Given the description of an element on the screen output the (x, y) to click on. 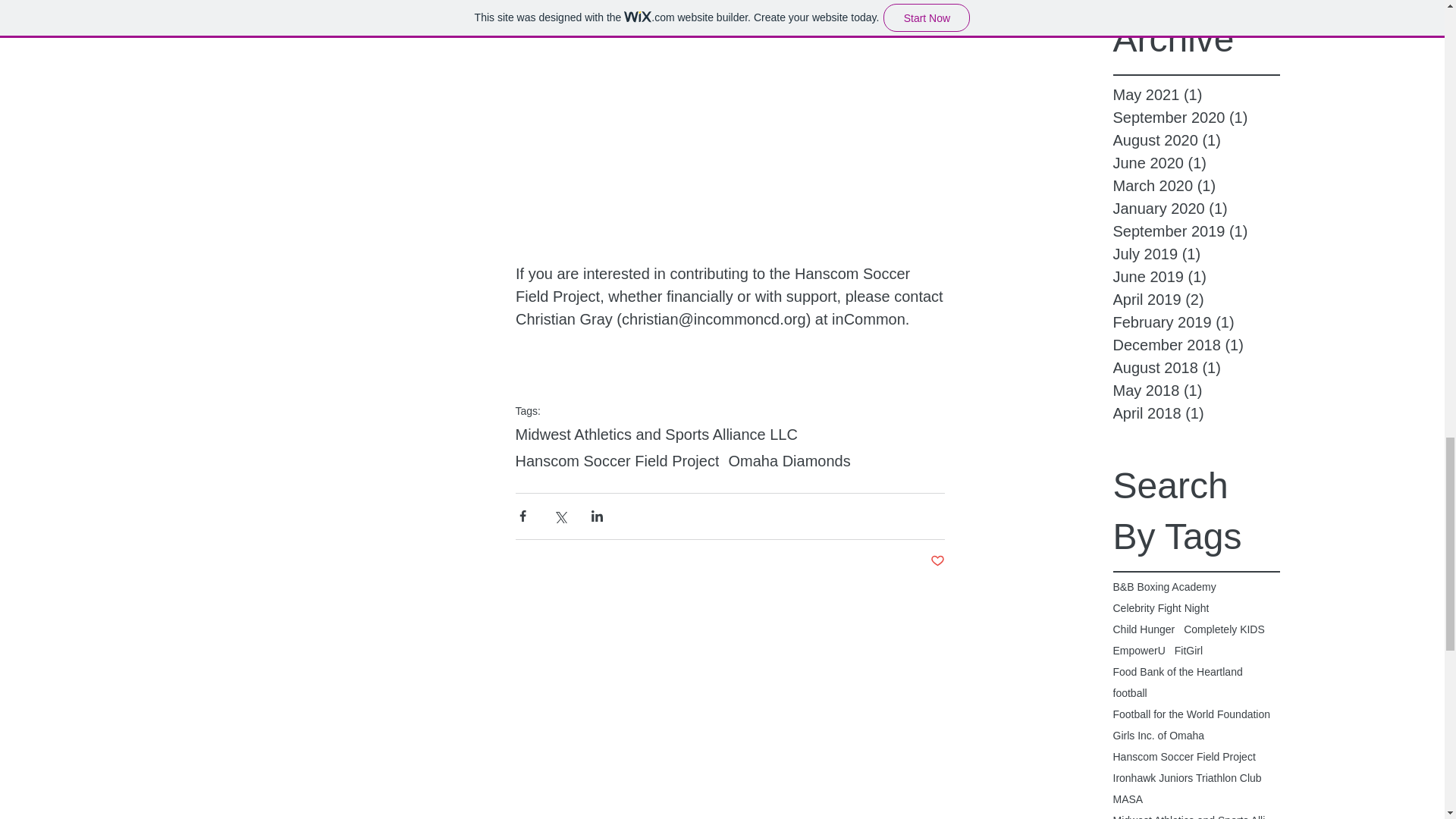
Food Bank of the Heartland (1178, 671)
Football for the World Foundation (1192, 714)
Child Hunger (1143, 629)
Celebrity Fight Night (1161, 607)
Completely KIDS (1224, 629)
FitGirl (1188, 650)
football (1130, 693)
EmpowerU (1139, 650)
